Given the description of an element on the screen output the (x, y) to click on. 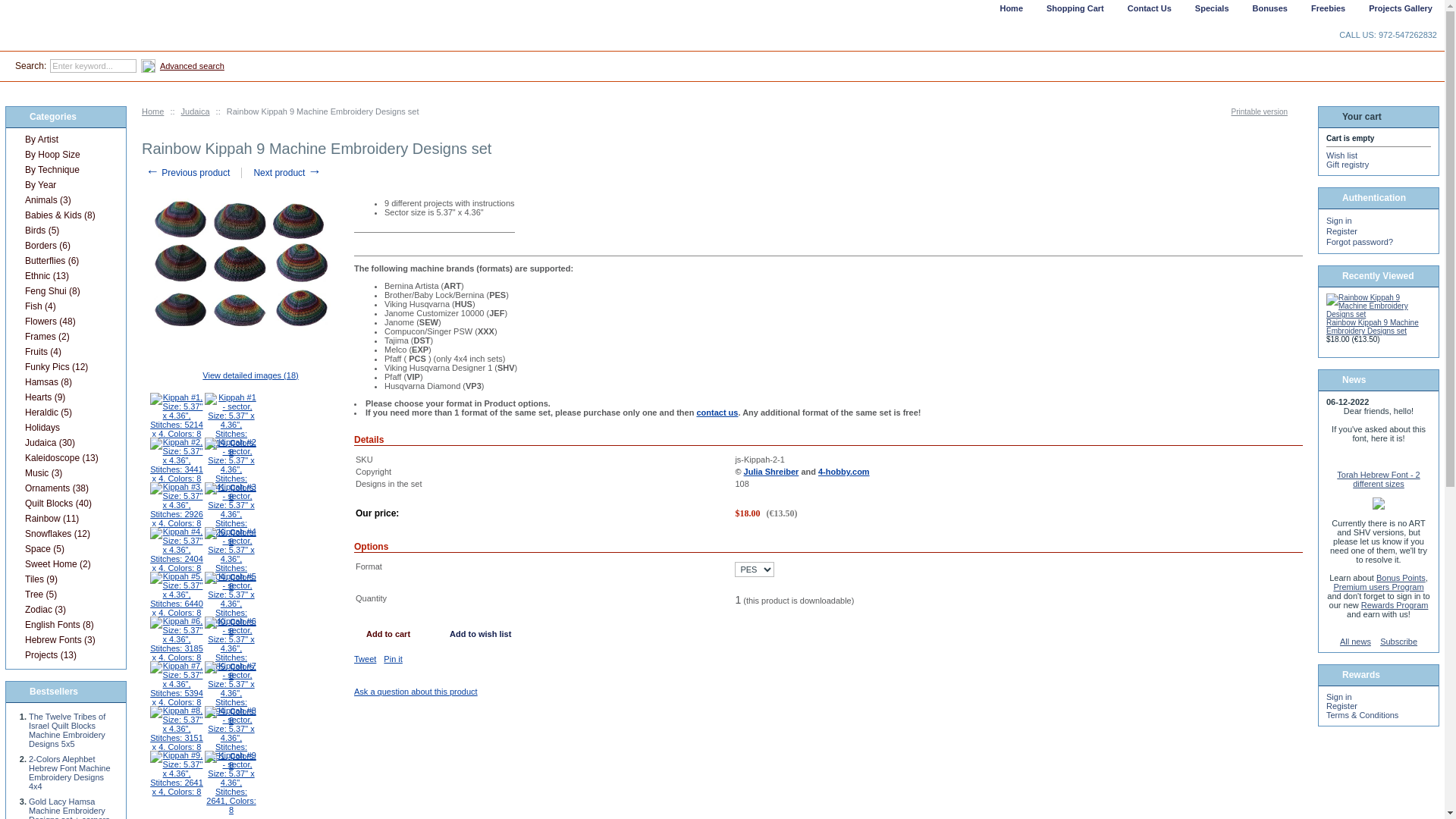
Judaica Element type: text (195, 111)
Register Element type: text (1341, 705)
View detailed images (18) Element type: text (243, 374)
Feng Shui (8) Element type: text (65, 291)
By Hoop Size Element type: text (65, 154)
Register Element type: text (1341, 230)
Babies & Kids (8) Element type: text (65, 215)
Judaica (30) Element type: text (65, 442)
Wish list Element type: text (1341, 155)
Rainbow Kippah 9 Machine Embroidery Designs set Element type: hover (1374, 305)
Music (3) Element type: text (65, 473)
Projects Gallery Element type: text (1398, 13)
Projects (13) Element type: text (65, 655)
Pin it Element type: text (392, 658)
By Artist Element type: text (65, 139)
Advanced search Element type: text (192, 65)
Home Element type: text (1009, 13)
Premium users Program Element type: text (1378, 586)
Birds (5) Element type: text (65, 230)
Torah Hebrew Font - 2 different sizes Element type: text (1377, 479)
Heraldic (5) Element type: text (65, 412)
Rainbow (11) Element type: text (65, 518)
Specials Element type: text (1209, 13)
Subscribe Element type: text (1398, 641)
Printable version Element type: text (1266, 111)
Home Element type: text (152, 111)
Sign in Element type: text (1339, 696)
Terms & Conditions Element type: text (1362, 714)
Rainbow Kippah 9 Machine Embroidery Designs set Element type: text (1372, 326)
Funky Pics (12) Element type: text (65, 366)
By Year Element type: text (65, 184)
All news Element type: text (1355, 641)
Hamsas (8) Element type: text (65, 382)
Sign in Element type: text (1339, 220)
Tiles (9) Element type: text (65, 579)
Animals (3) Element type: text (65, 200)
Contact Us Element type: text (1147, 13)
contact us Element type: text (716, 412)
Butterflies (6) Element type: text (65, 260)
English Fonts (8) Element type: text (65, 624)
Rewards Program Element type: text (1394, 604)
Hebrew Fonts (3) Element type: text (65, 639)
Quilt Blocks (40) Element type: text (65, 503)
Julia Shreiber Element type: text (771, 471)
Tree (5) Element type: text (65, 594)
Bonus Points Element type: text (1400, 577)
Fruits (4) Element type: text (65, 351)
Hearts (9) Element type: text (65, 397)
4-hobby.com Element type: text (843, 471)
Ethnic (13) Element type: text (65, 275)
Forgot password? Element type: text (1359, 241)
Fish (4) Element type: text (65, 306)
Ornaments (38) Element type: text (65, 488)
By Technique Element type: text (65, 169)
Bonuses Element type: text (1267, 13)
Space (5) Element type: text (65, 548)
Gift registry Element type: text (1347, 164)
Snowflakes (12) Element type: text (65, 533)
Zodiac (3) Element type: text (65, 609)
2-Colors Alephbet Hebrew Font Machine Embroidery Designs 4x4 Element type: text (69, 772)
Tweet Element type: text (365, 658)
Shopping Cart Element type: text (1073, 13)
Kaleidoscope (13) Element type: text (65, 457)
Freebies Element type: text (1325, 13)
Holidays Element type: text (65, 427)
Rainbow Kippah 9 Machine Embroidery Designs set Element type: hover (243, 264)
Add to wish list Element type: text (480, 634)
Ask a question about this product Element type: text (415, 691)
Add to cart Element type: text (388, 634)
Flowers (48) Element type: text (65, 321)
Borders (6) Element type: text (65, 245)
Frames (2) Element type: text (65, 336)
Sweet Home (2) Element type: text (65, 564)
